Given the description of an element on the screen output the (x, y) to click on. 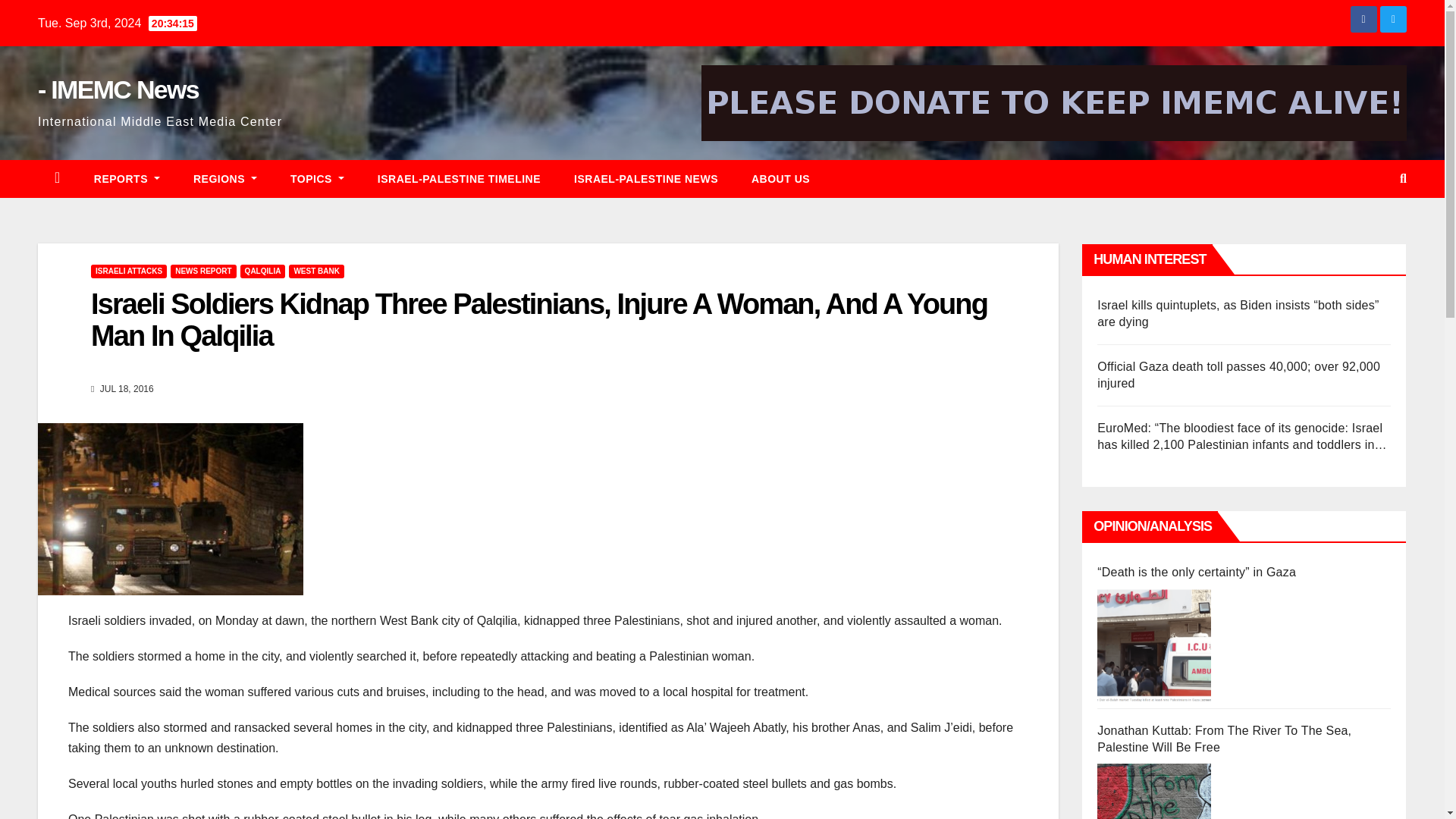
Reports (126, 178)
REPORTS (126, 178)
- IMEMC News (117, 89)
Regions (224, 178)
REGIONS (224, 178)
TOPICS (317, 178)
